Given the description of an element on the screen output the (x, y) to click on. 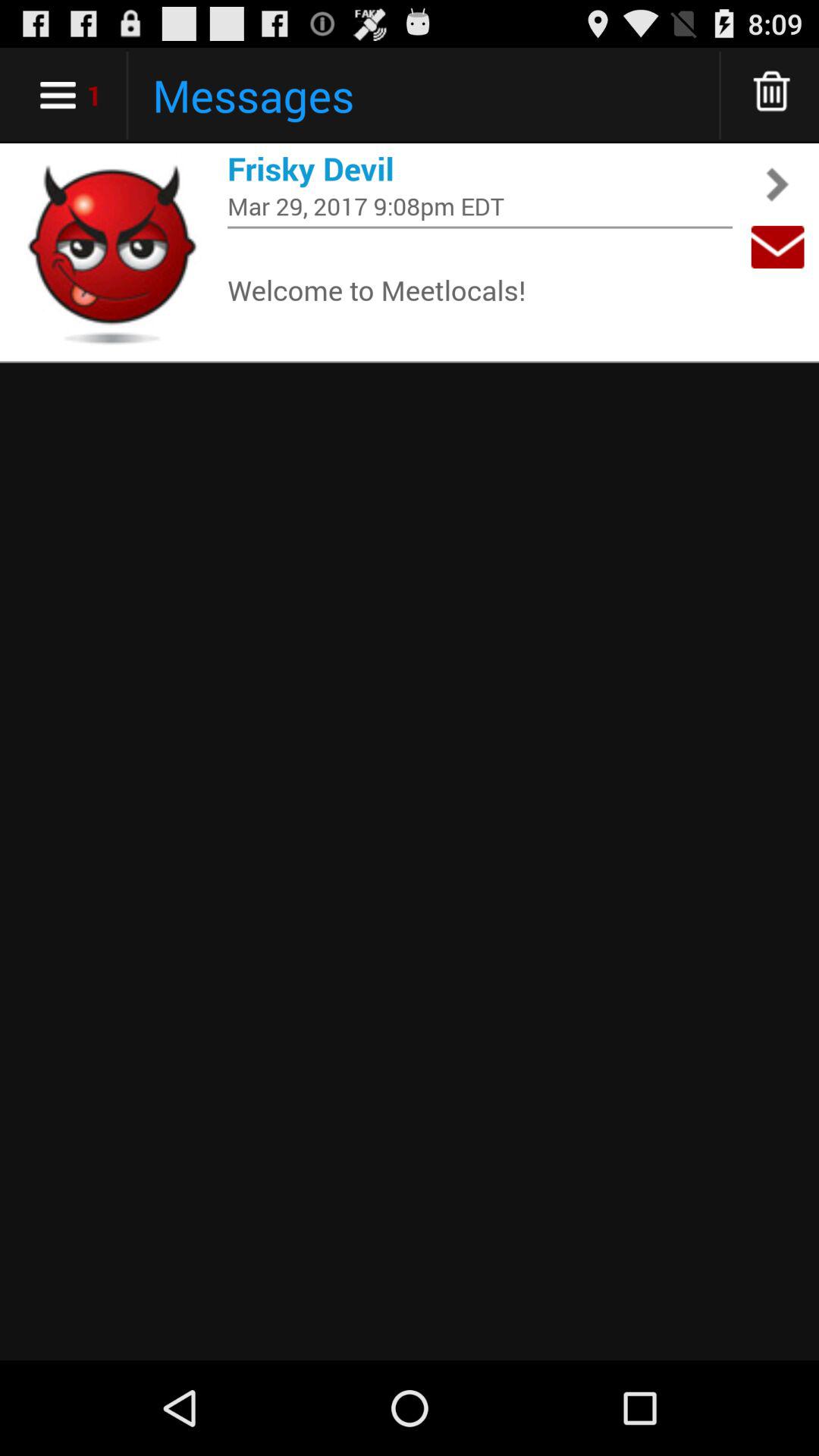
select the item above the mar 29 2017 (479, 168)
